Given the description of an element on the screen output the (x, y) to click on. 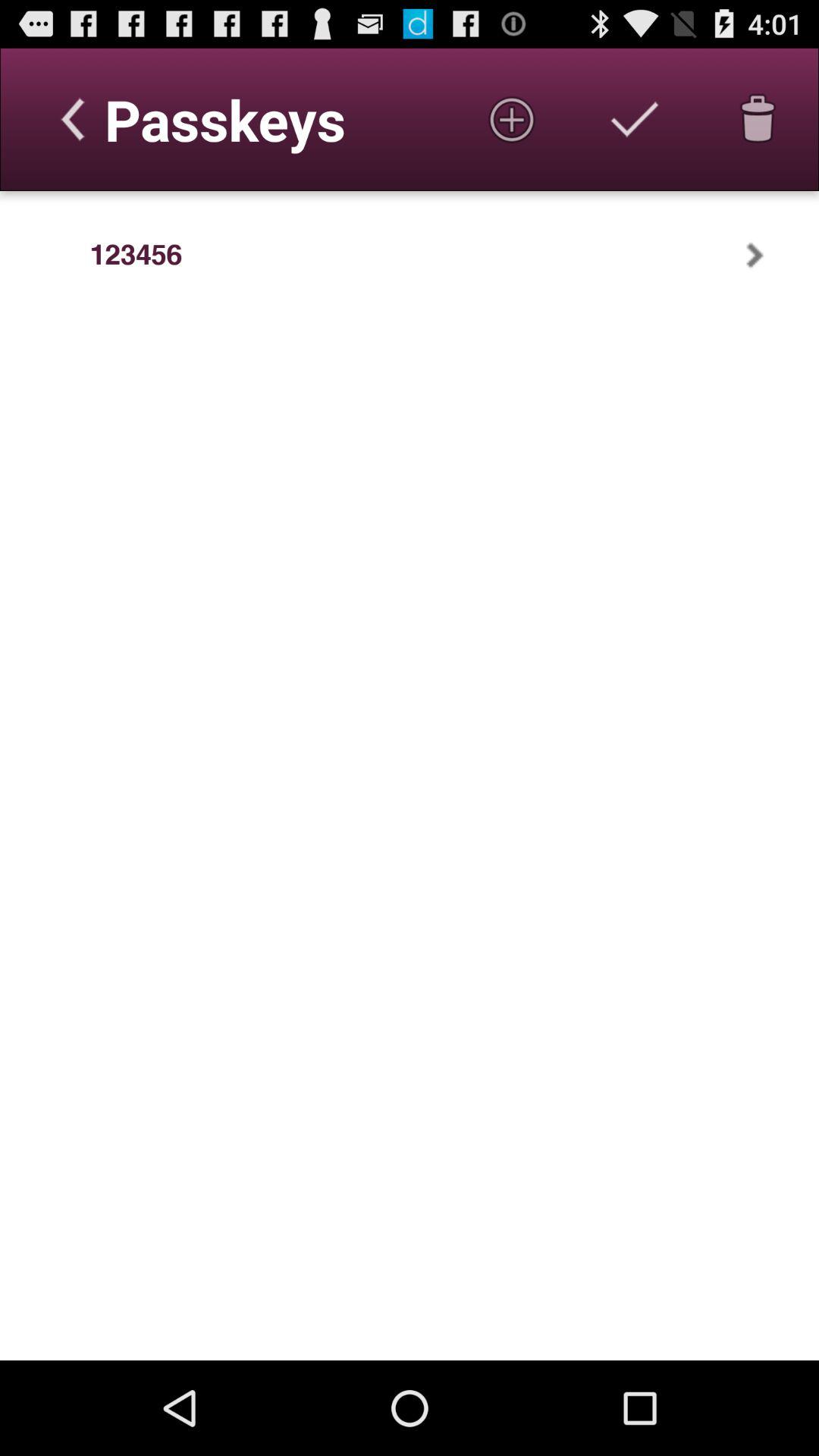
launch the 123456 item (135, 254)
